Given the description of an element on the screen output the (x, y) to click on. 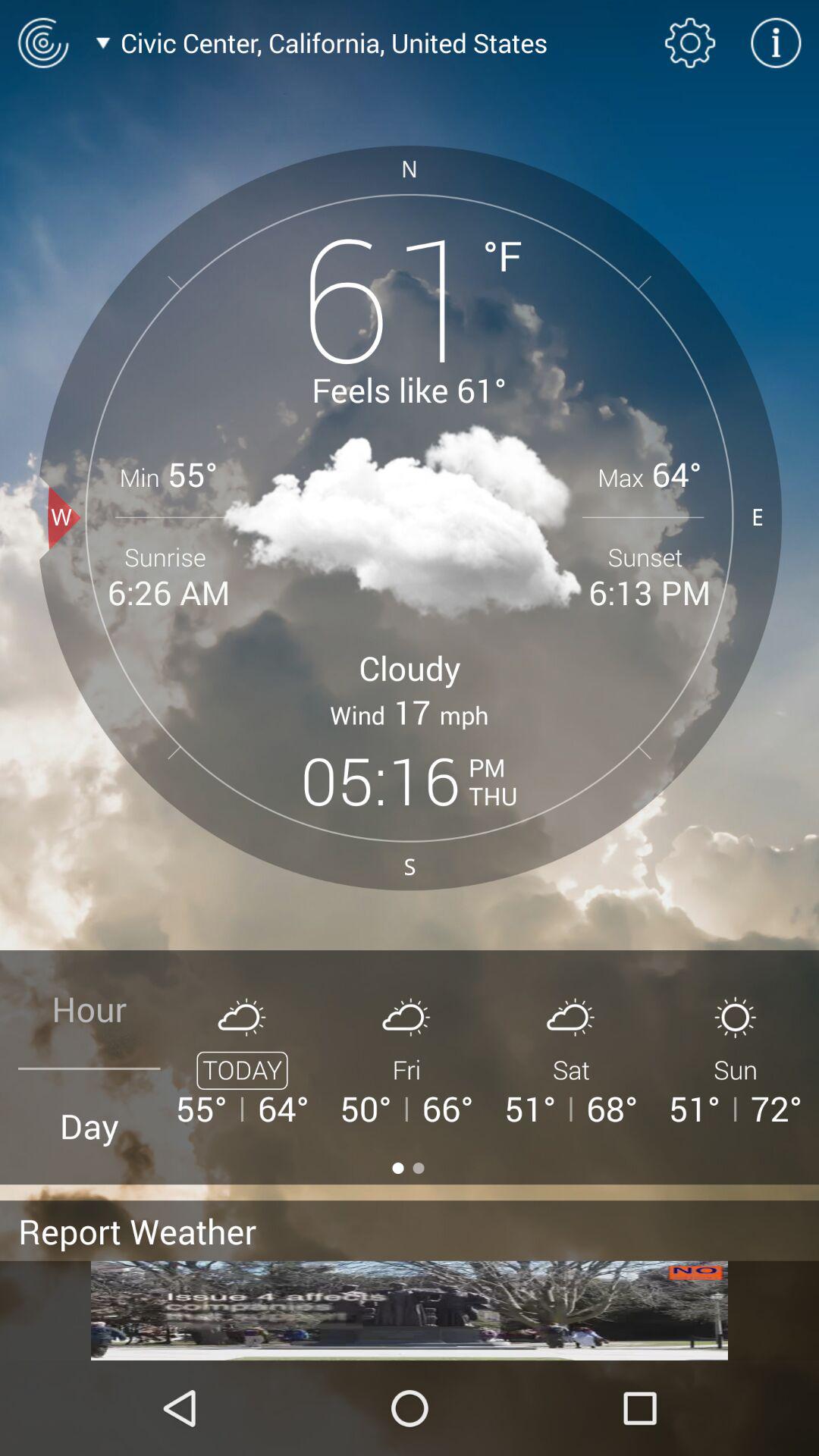
click information icon (776, 42)
